Given the description of an element on the screen output the (x, y) to click on. 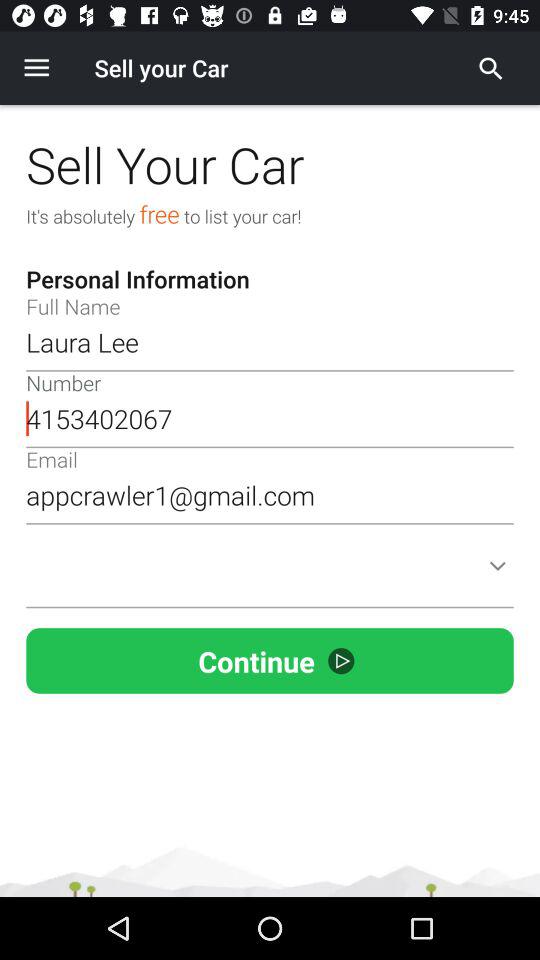
scroll until appcrawler1@gmail.com (269, 495)
